Given the description of an element on the screen output the (x, y) to click on. 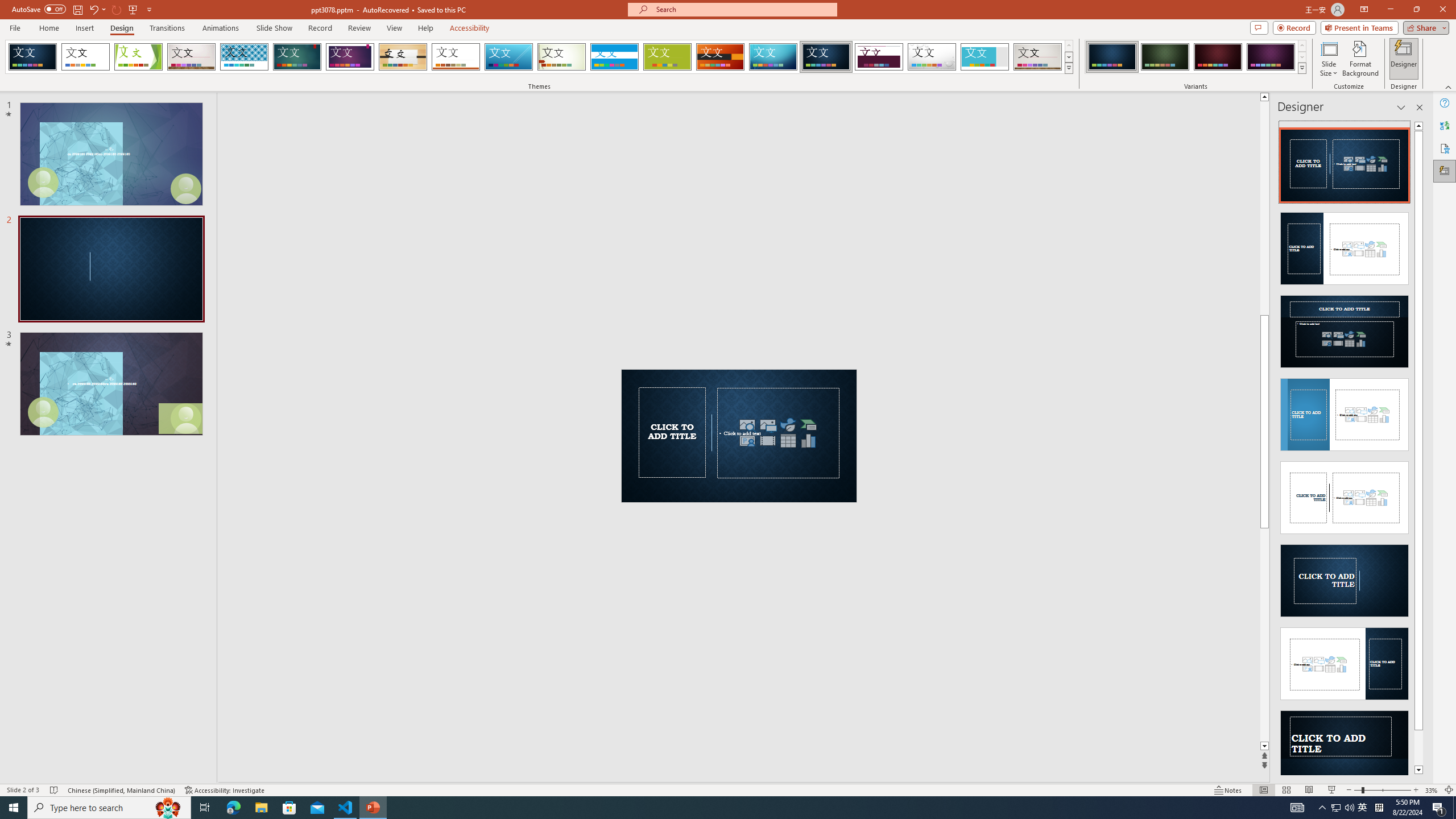
AutomationID: ThemeVariantsGallery (1195, 56)
Format Background (1360, 58)
Dividend (879, 56)
Insert Cameo (747, 440)
Stock Images (747, 424)
Frame (984, 56)
Insert Table (787, 440)
Class: NetUIScrollBar (1418, 447)
